Given the description of an element on the screen output the (x, y) to click on. 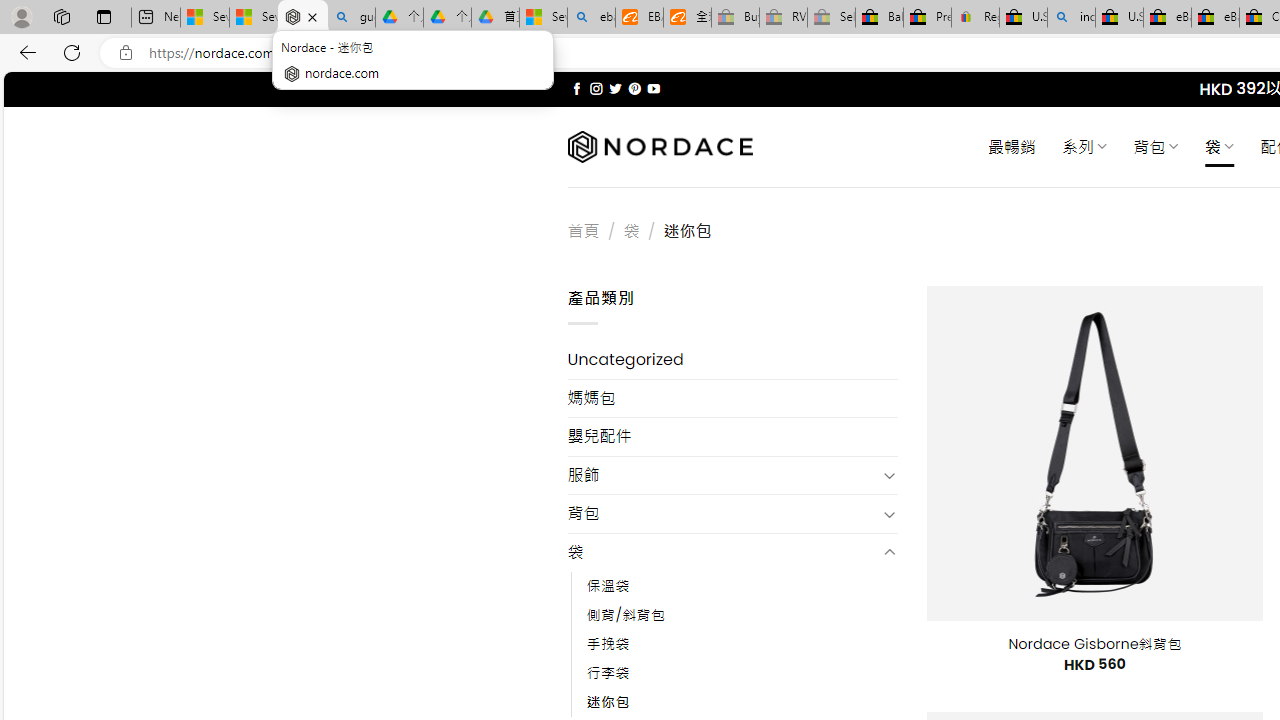
Buy Auto Parts & Accessories | eBay - Sleeping (735, 17)
Follow on Facebook (576, 88)
Follow on Twitter (615, 88)
